Given the description of an element on the screen output the (x, y) to click on. 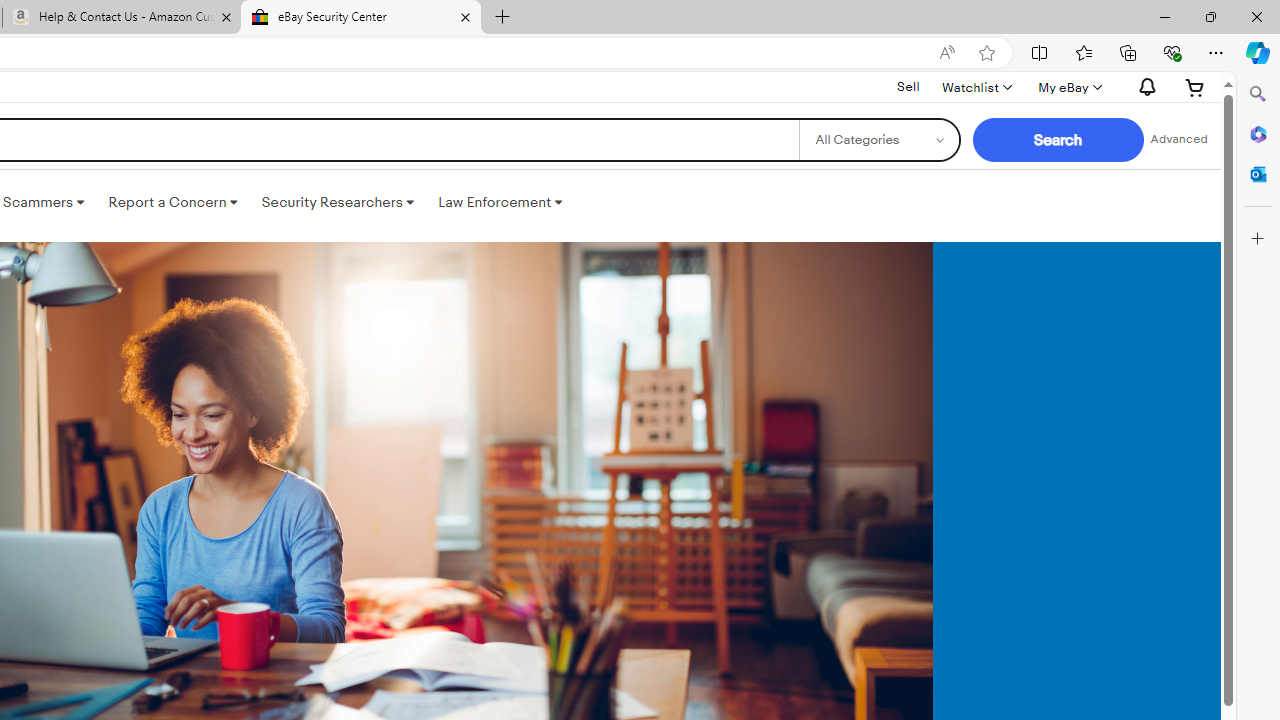
WatchlistExpand Watch List (975, 87)
My eBayExpand My eBay (1068, 87)
Select a category for search (877, 139)
Search (1258, 94)
eBay Security Center (360, 17)
Report a Concern  (173, 202)
